Given the description of an element on the screen output the (x, y) to click on. 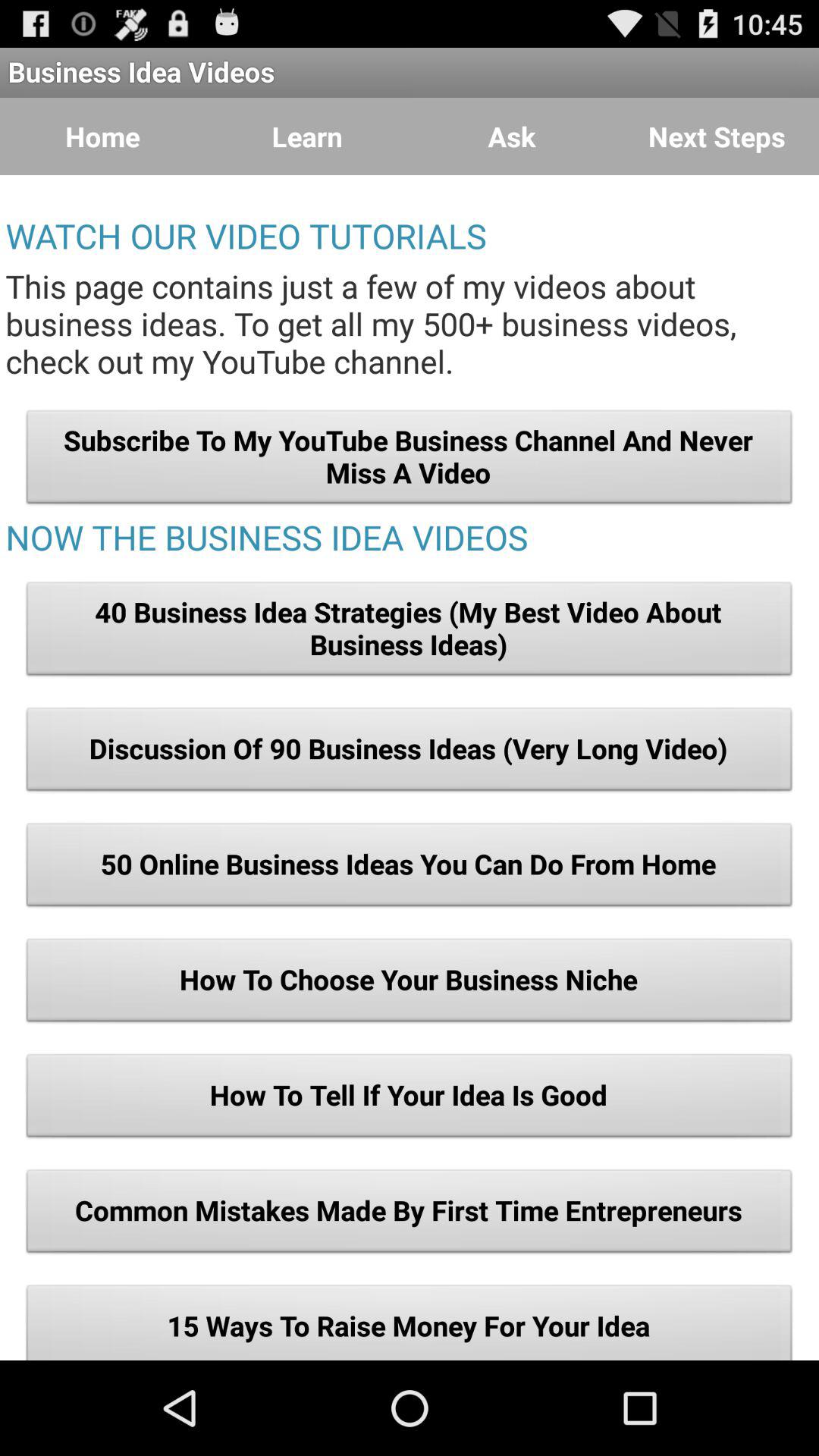
select the button next to the home icon (306, 136)
